Given the description of an element on the screen output the (x, y) to click on. 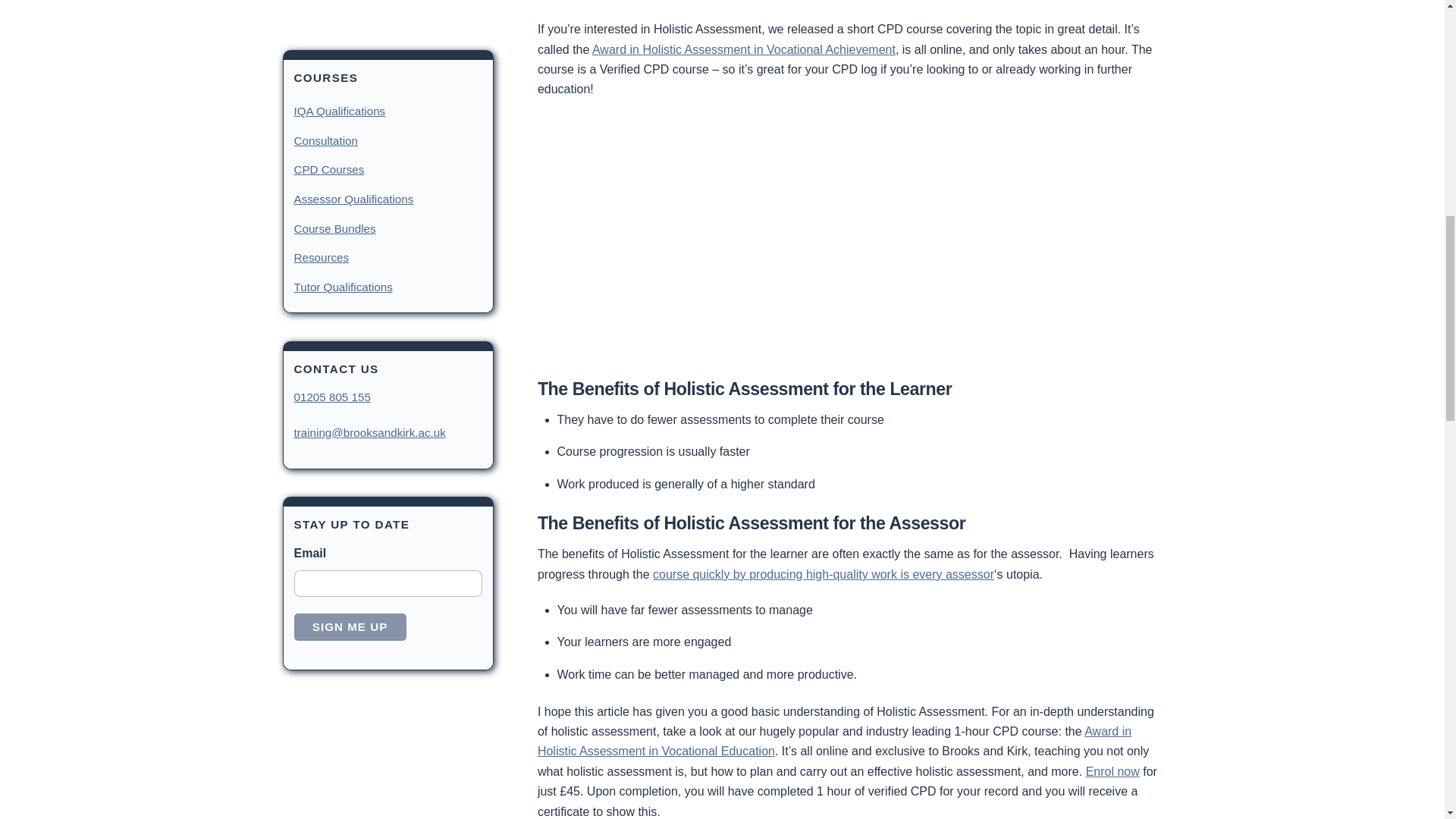
YouTube video player (749, 235)
